Given the description of an element on the screen output the (x, y) to click on. 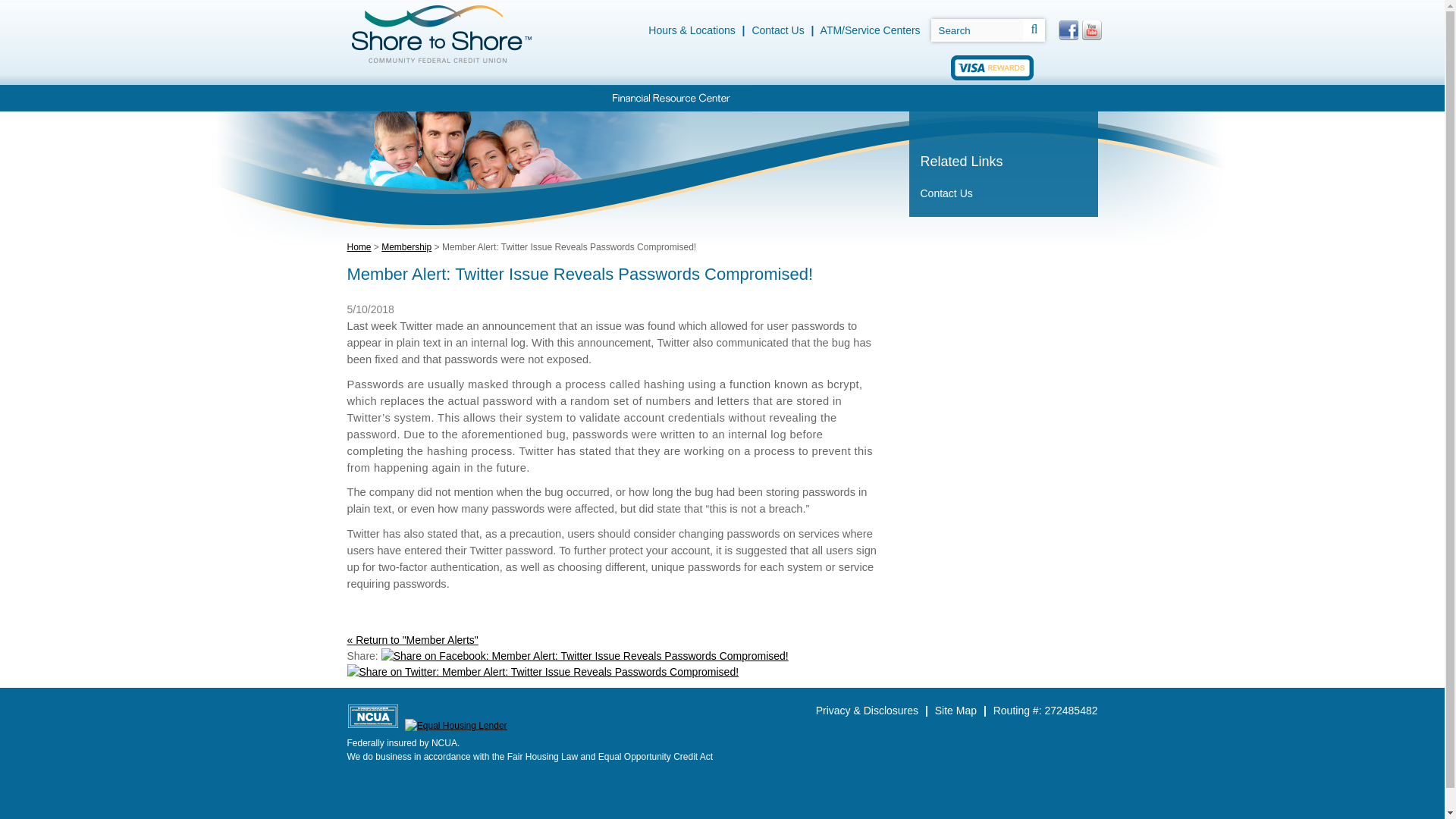
Membership (901, 98)
Online Banking Tools (801, 98)
National Credit Union Administration (372, 715)
Financial Resource Center (670, 98)
Search (977, 29)
Contact Us (777, 30)
Equal Housing Lender (455, 725)
Search (977, 29)
Shore to Shore Community Federal Credit Union (440, 33)
About Us (994, 98)
